Given the description of an element on the screen output the (x, y) to click on. 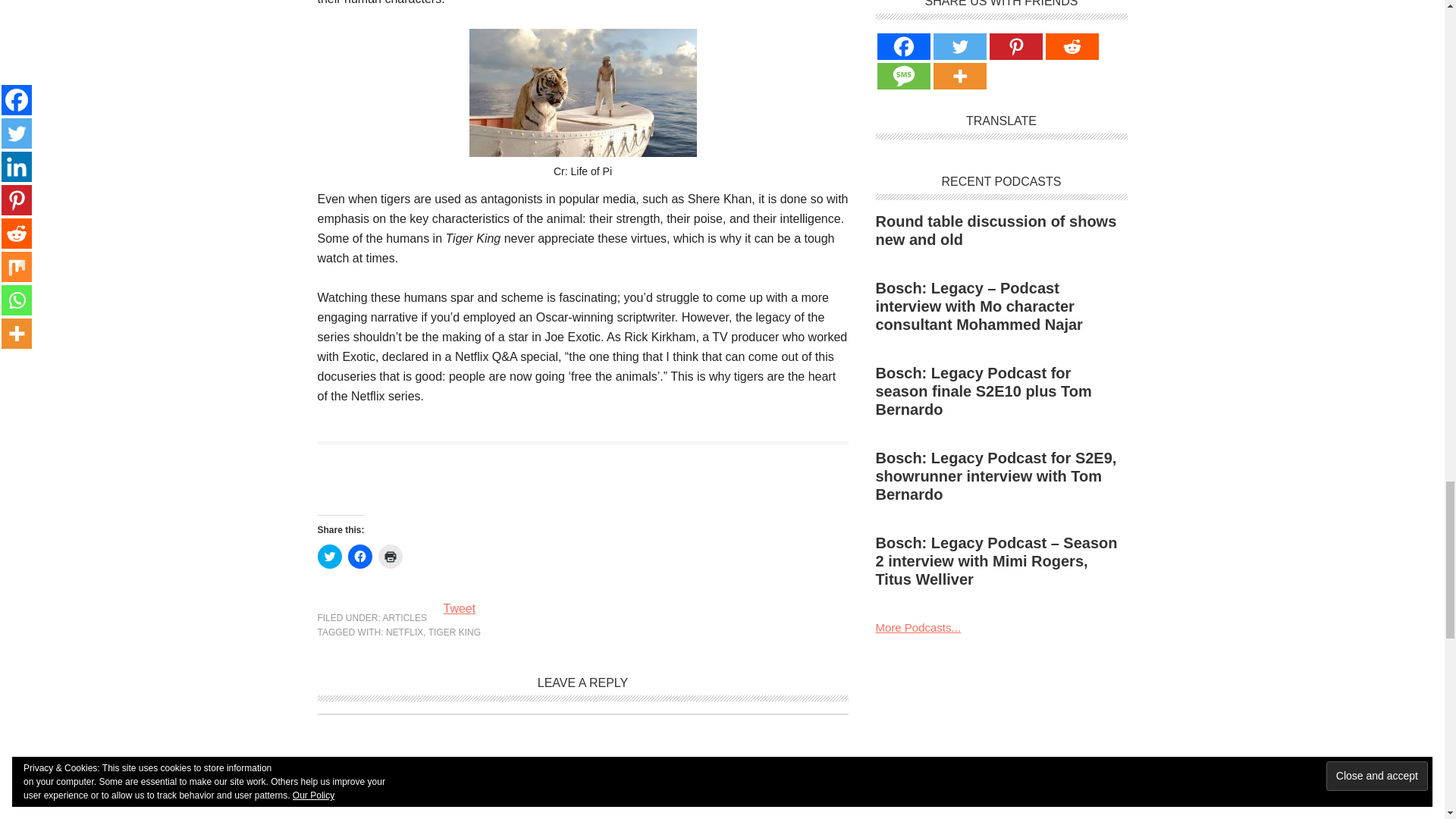
Tweet (459, 608)
Click to print (389, 556)
Click to share on Twitter (328, 556)
Click to share on Facebook (359, 556)
ARTICLES (404, 617)
